Given the description of an element on the screen output the (x, y) to click on. 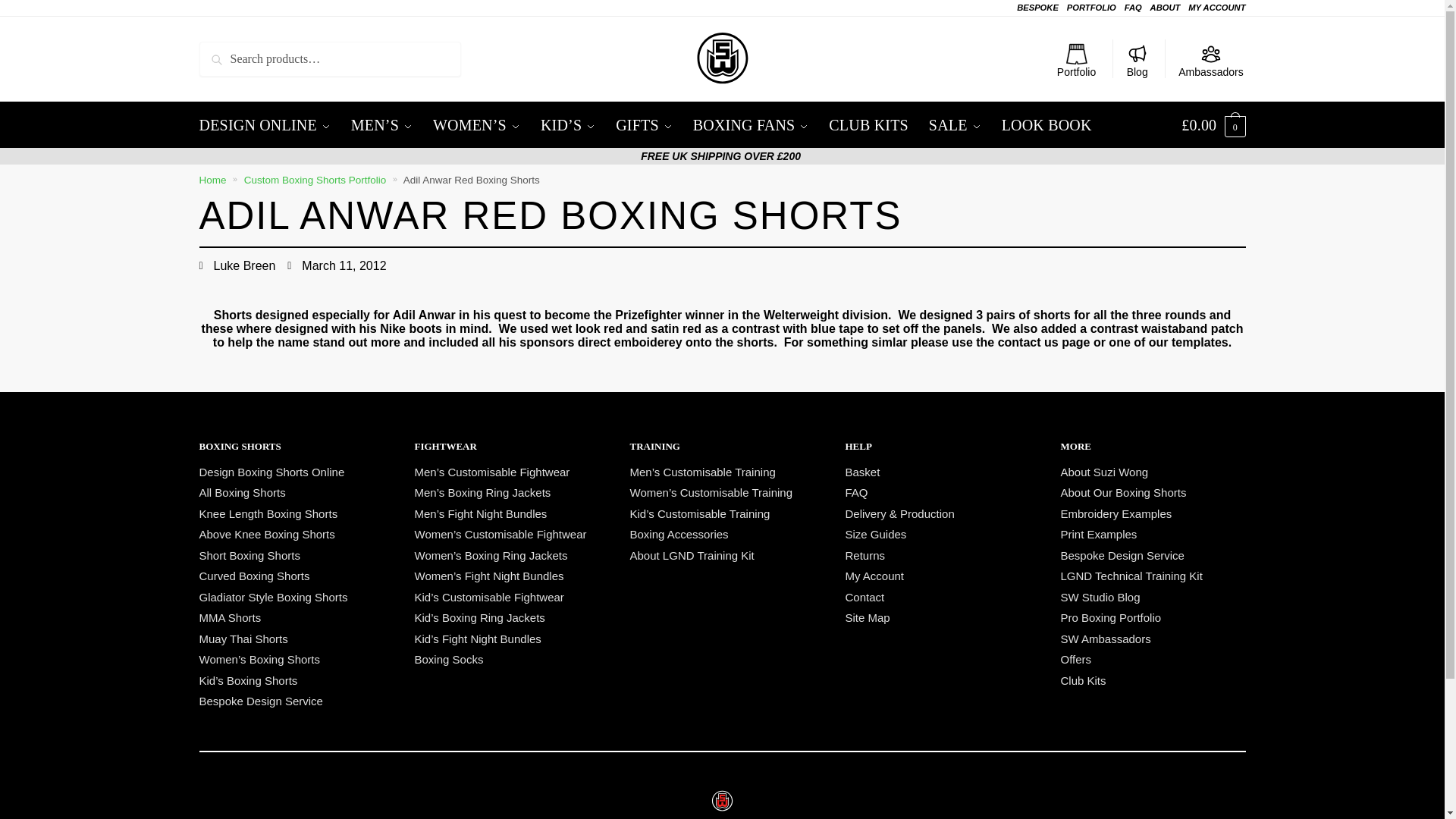
FAQ (1132, 8)
DESIGN ONLINE (267, 125)
Blog (1136, 58)
View your shopping cart (1212, 125)
Suzi Wong Logo (722, 801)
MY ACCOUNT (1216, 8)
Ambassadors (1210, 58)
ABOUT (1165, 8)
BESPOKE (1037, 8)
PORTFOLIO (1091, 8)
